Given the description of an element on the screen output the (x, y) to click on. 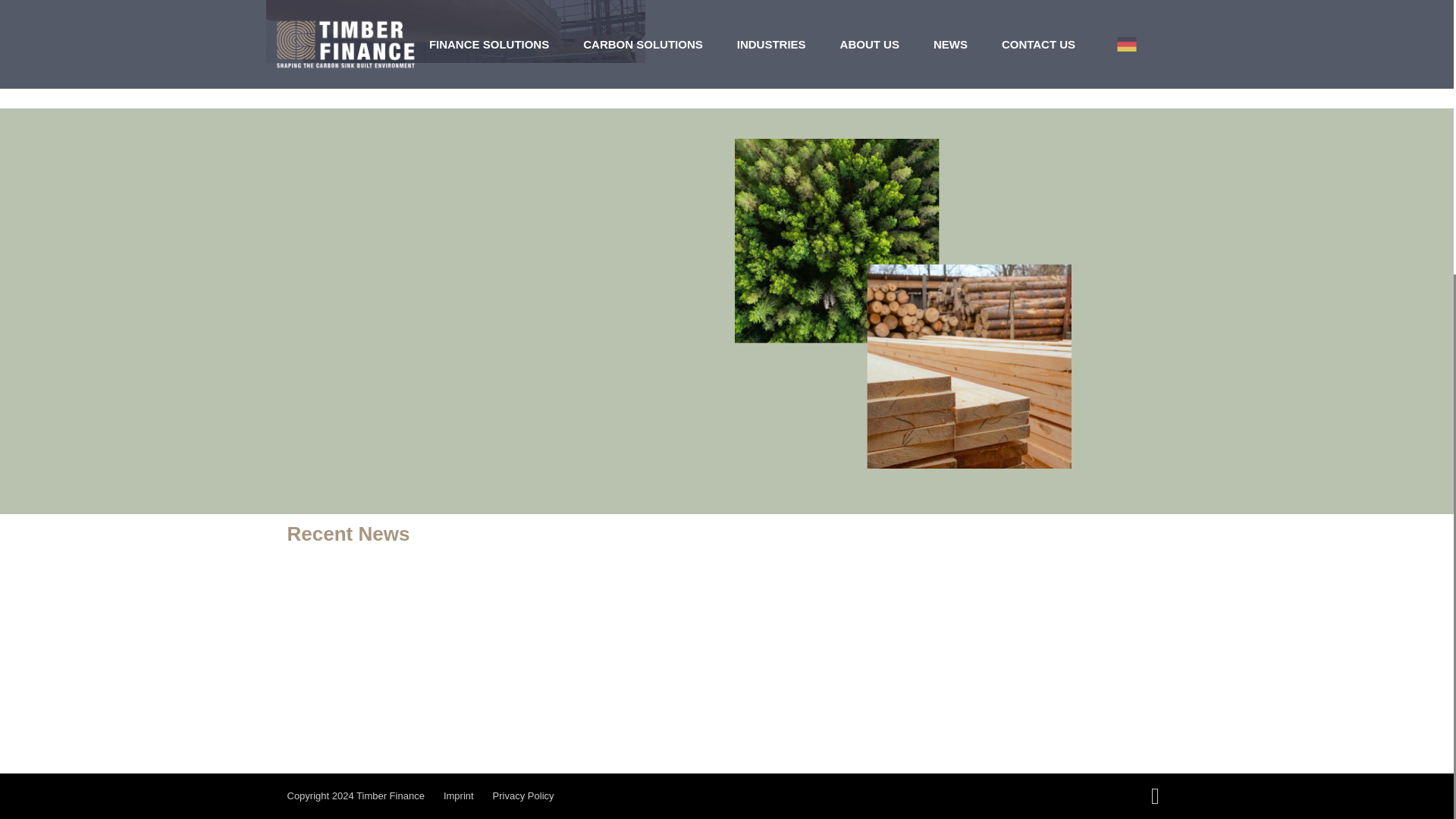
verified-carbon-02-fix (455, 31)
